Given the description of an element on the screen output the (x, y) to click on. 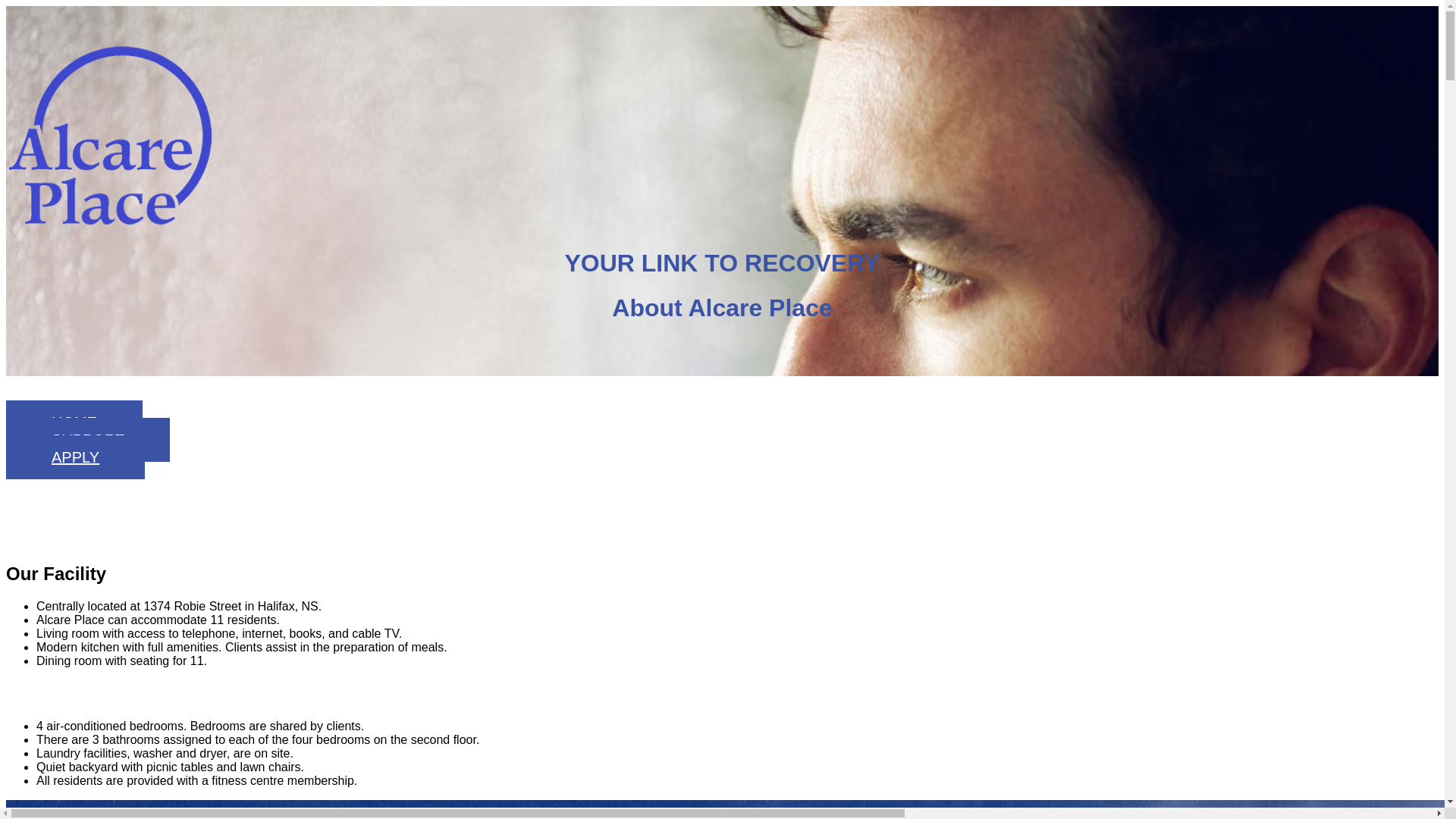
APPLY Element type: text (75, 457)
Skip to main content Element type: text (6, 6)
HOME Element type: text (74, 422)
SUPPORT Element type: text (87, 439)
